Given the description of an element on the screen output the (x, y) to click on. 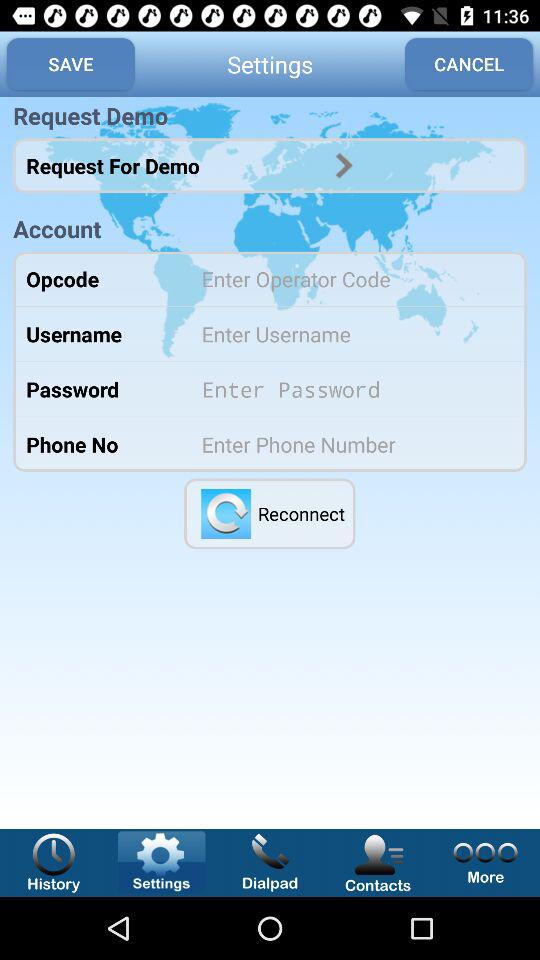
click the save item (70, 64)
